Given the description of an element on the screen output the (x, y) to click on. 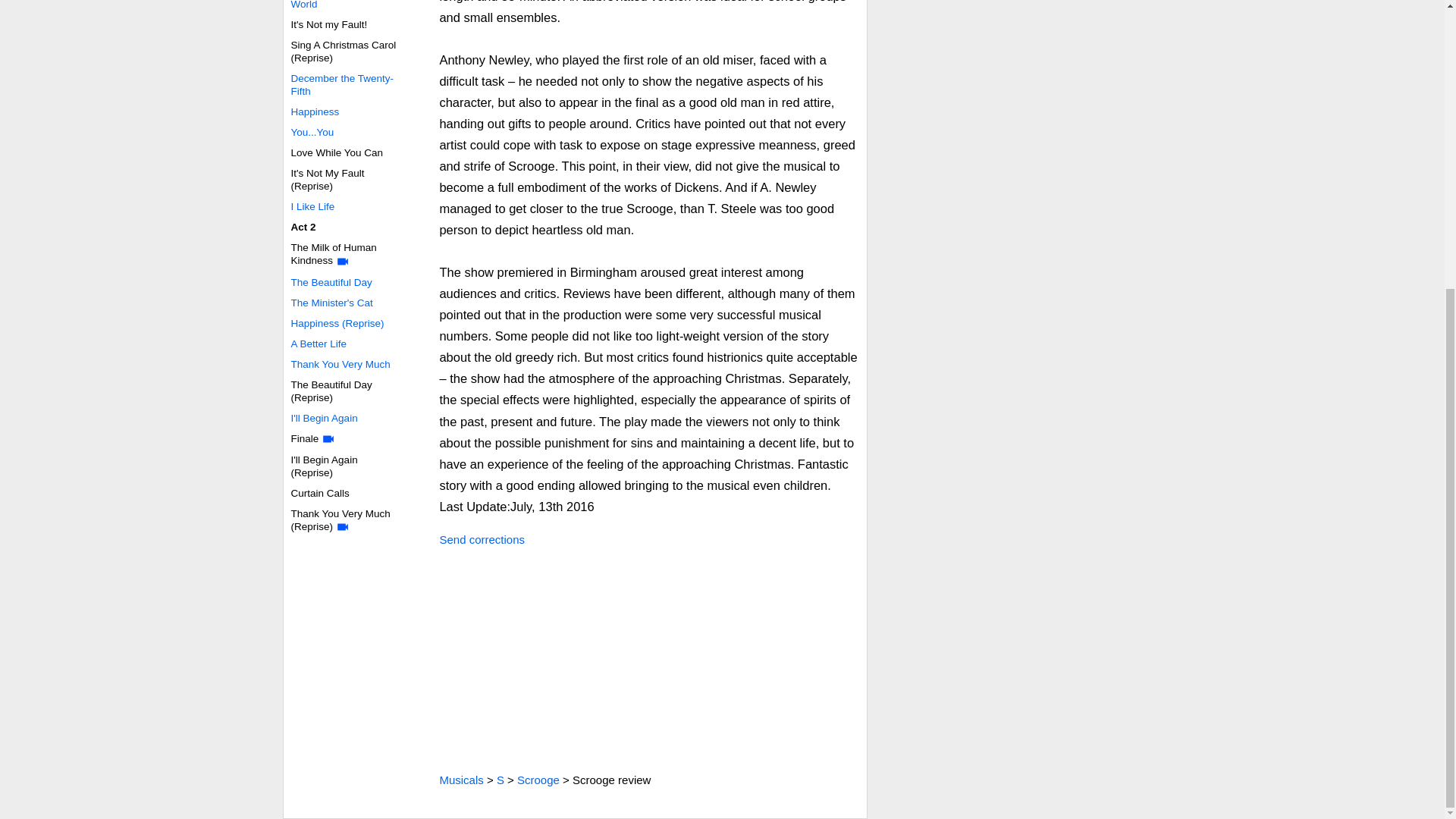
Finale Video (327, 438)
The Milk of Human Kindness Video (342, 260)
